Given the description of an element on the screen output the (x, y) to click on. 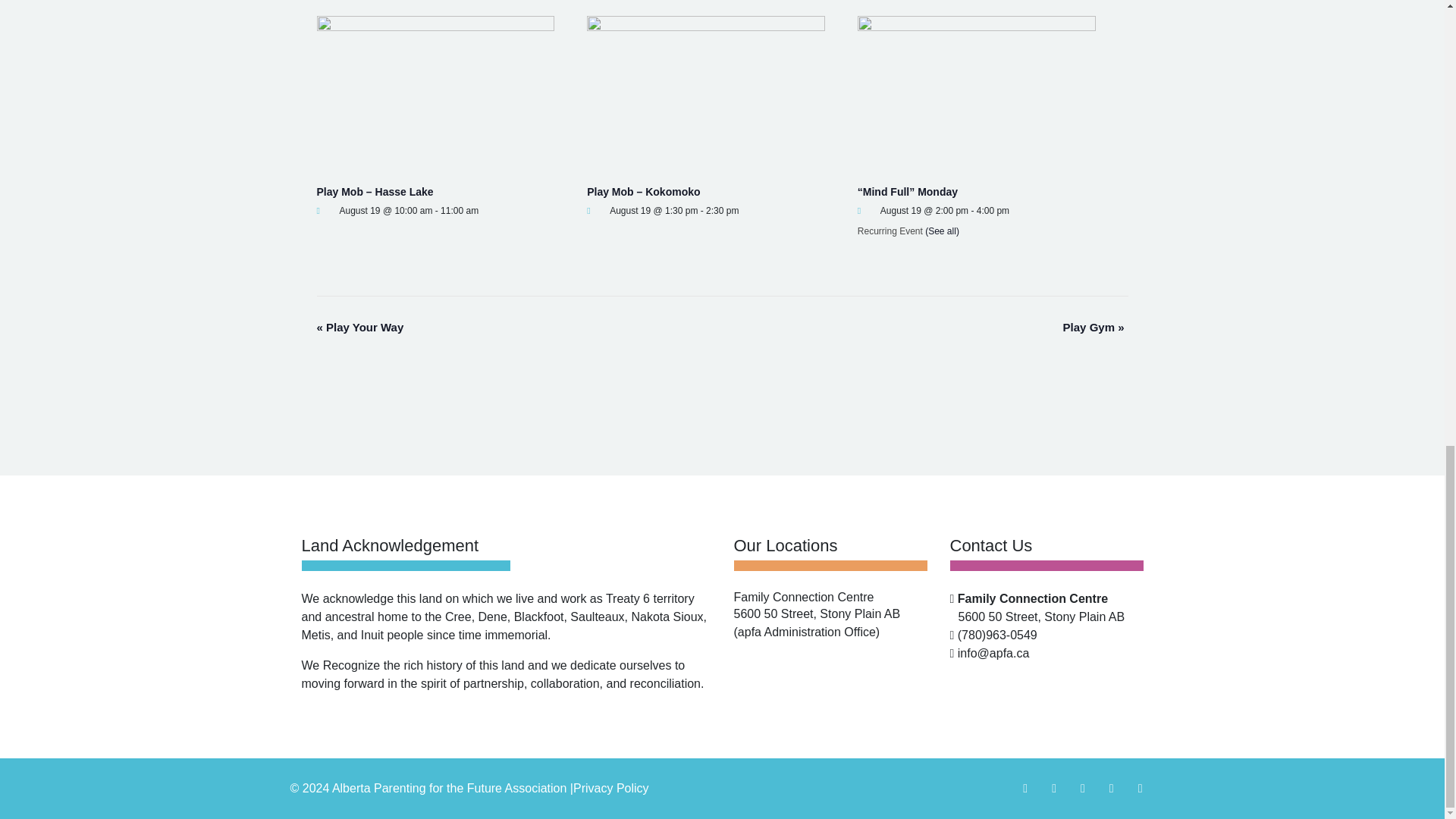
Instagram (1053, 788)
Pinterest (1139, 788)
Twitter (1111, 788)
Facebook (1024, 788)
Youtube (1082, 788)
